Given the description of an element on the screen output the (x, y) to click on. 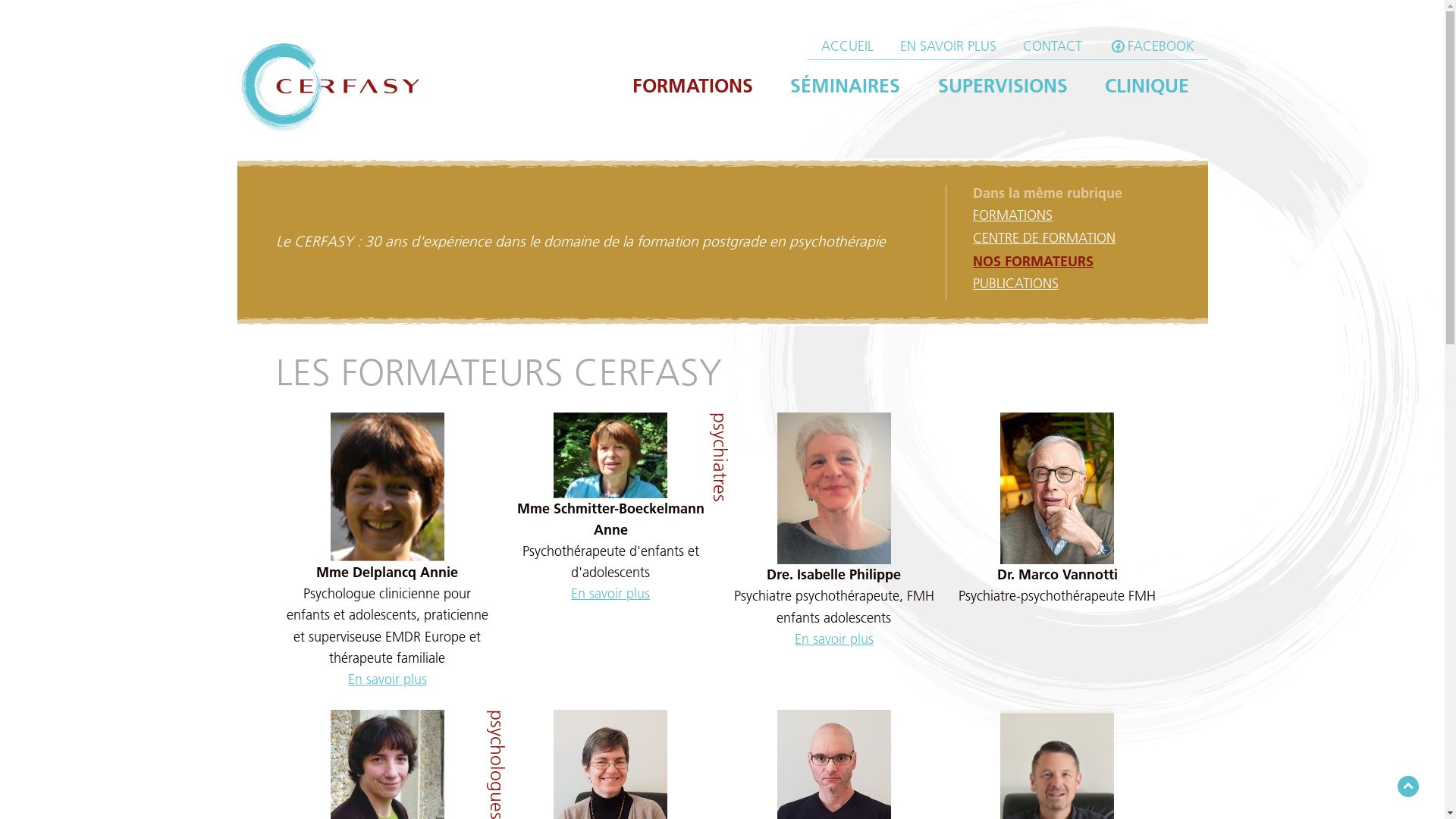
En savoir plus Element type: text (387, 679)
En savoir plus Element type: text (833, 638)
FORMATIONS Element type: text (1012, 215)
FACEBOOK Element type: text (1151, 45)
PUBLICATIONS Element type: text (1015, 283)
CLINIQUE Element type: text (1146, 85)
FORMATIONS Element type: text (692, 85)
NOS FORMATEURS Element type: text (1032, 260)
EN SAVOIR PLUS Element type: text (947, 45)
En savoir plus Element type: text (610, 593)
ACCUEIL Element type: text (846, 45)
CONTACT Element type: text (1052, 45)
SUPERVISIONS Element type: text (1002, 85)
CENTRE DE FORMATION Element type: text (1043, 237)
